Given the description of an element on the screen output the (x, y) to click on. 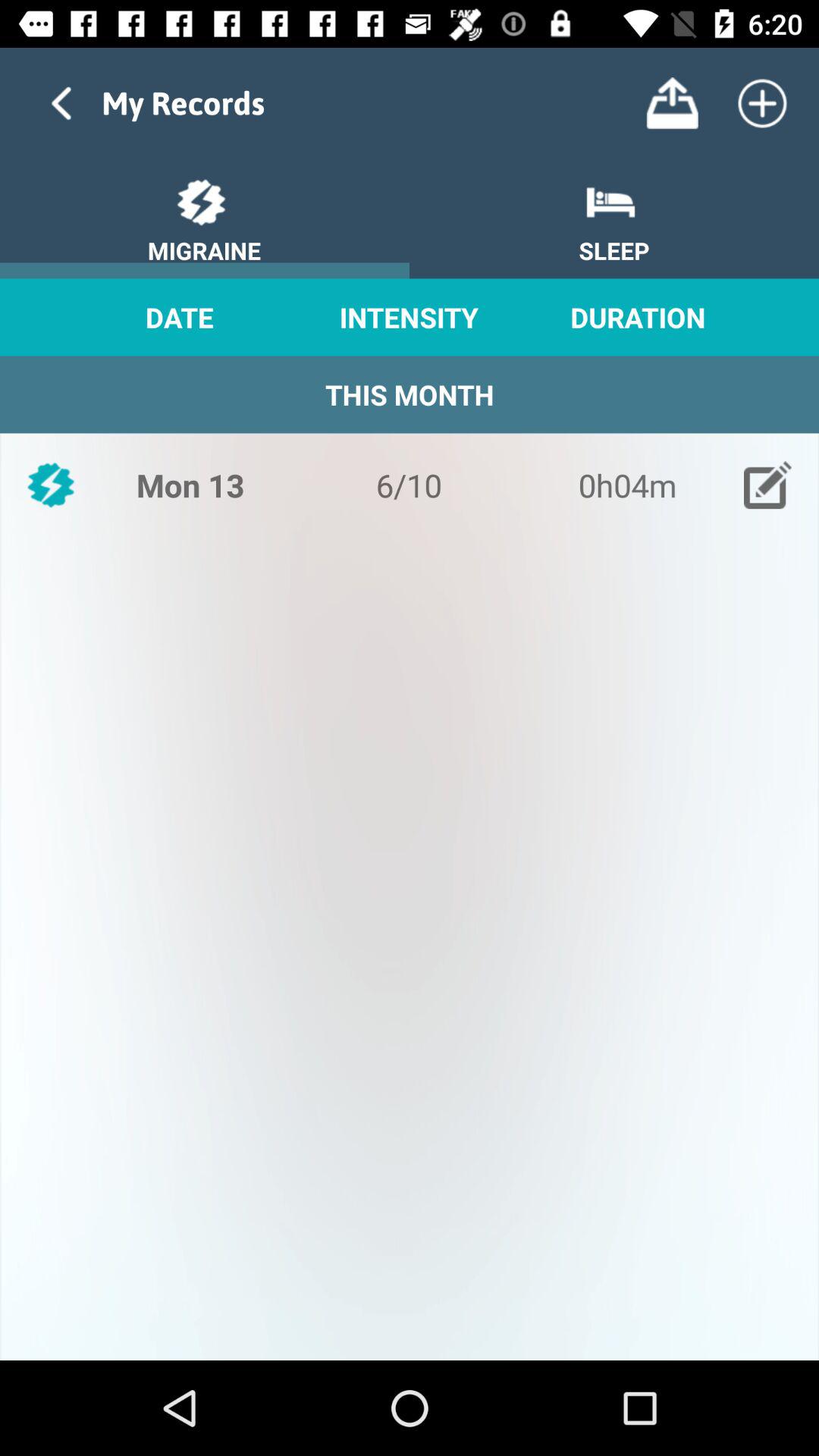
upload item (672, 103)
